Given the description of an element on the screen output the (x, y) to click on. 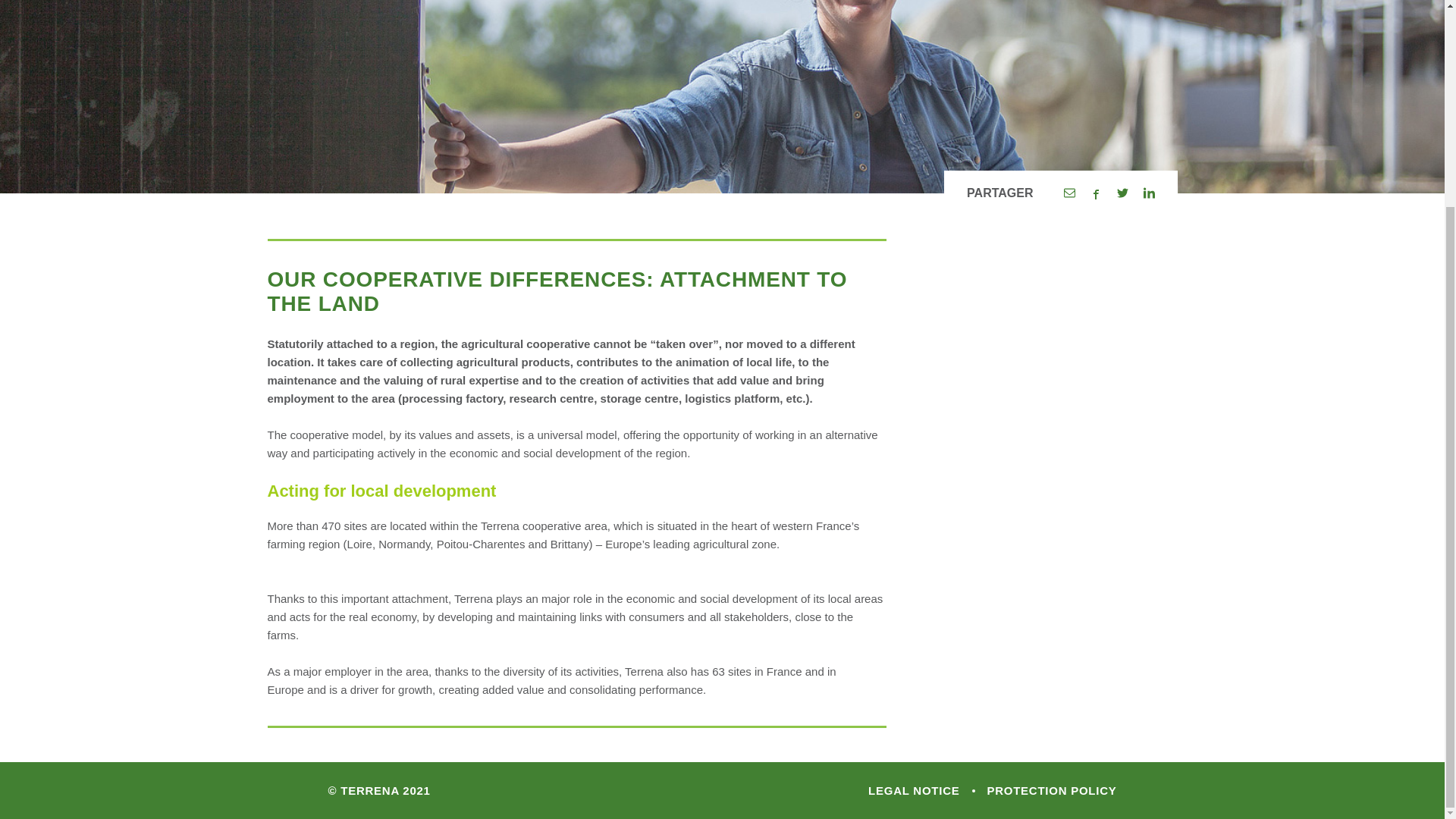
Share on Linkedin (1148, 193)
LEGAL NOTICE (913, 789)
Tweet (1121, 193)
PROTECTION POLICY (1045, 789)
Share on Facebook (1096, 193)
Send by email (1068, 193)
